Given the description of an element on the screen output the (x, y) to click on. 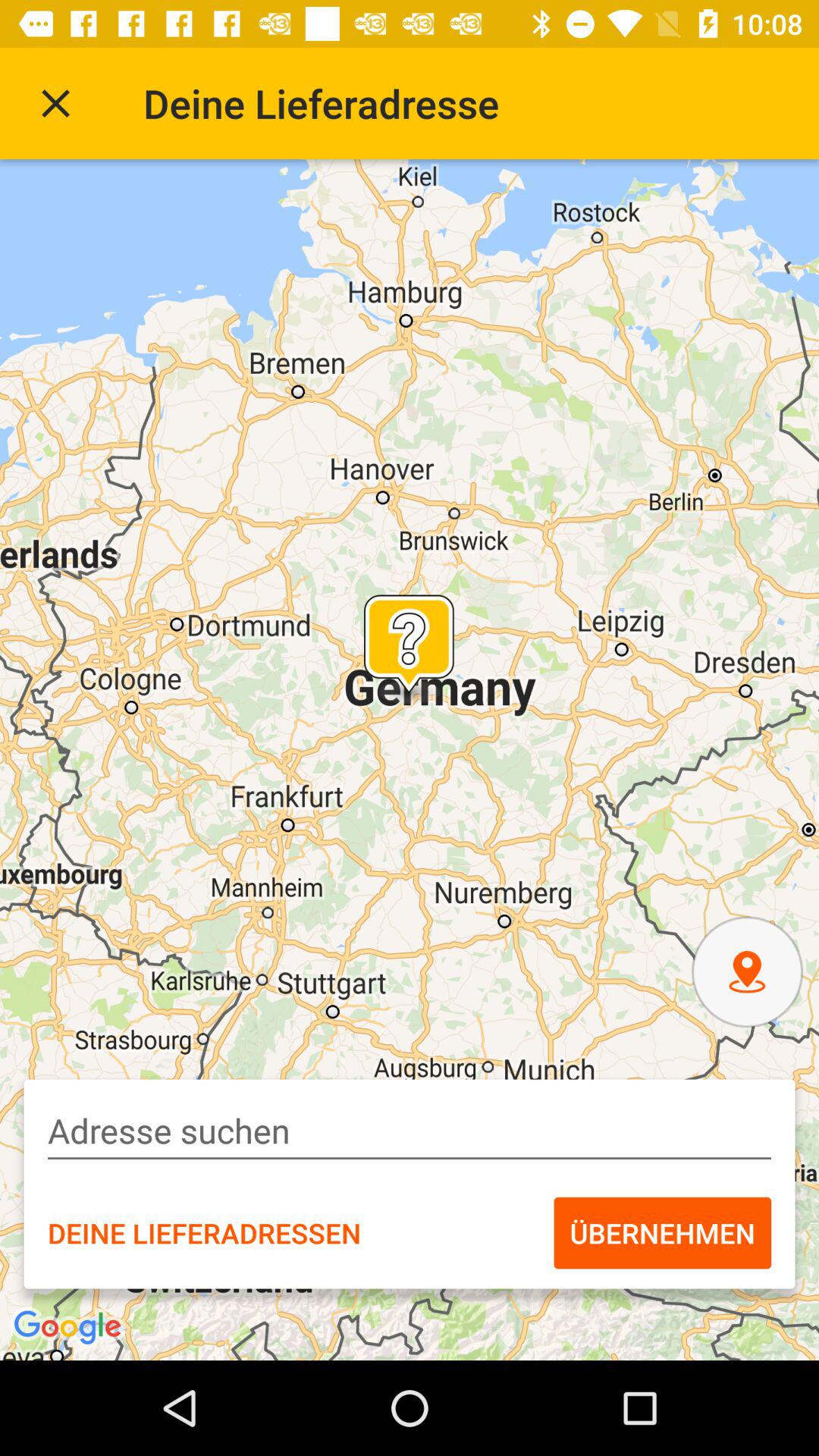
press item to the left of the deine lieferadresse (55, 103)
